Given the description of an element on the screen output the (x, y) to click on. 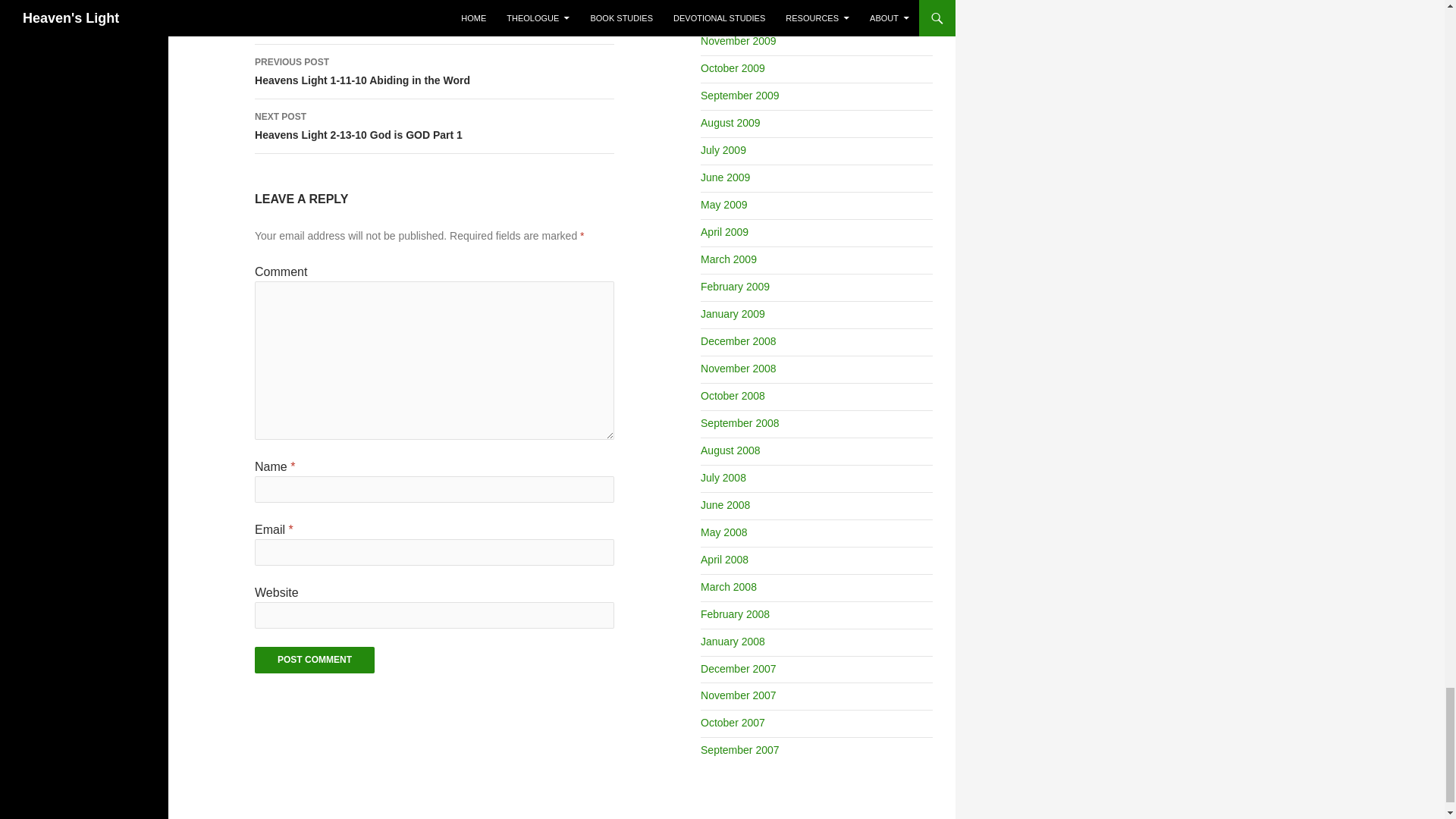
Post Comment (434, 72)
Post Comment (314, 660)
